Given the description of an element on the screen output the (x, y) to click on. 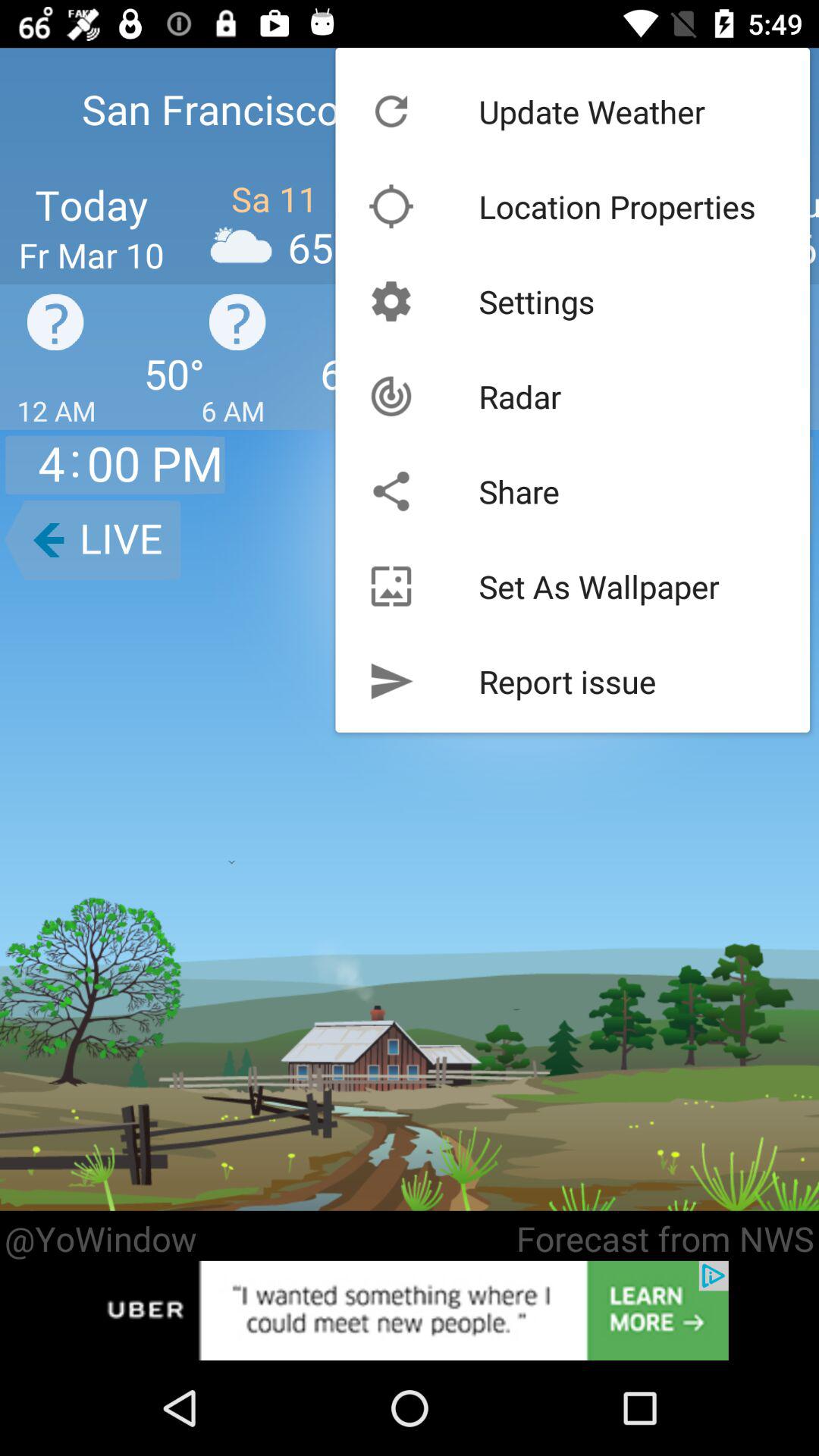
press the icon above set as wallpaper (518, 491)
